Given the description of an element on the screen output the (x, y) to click on. 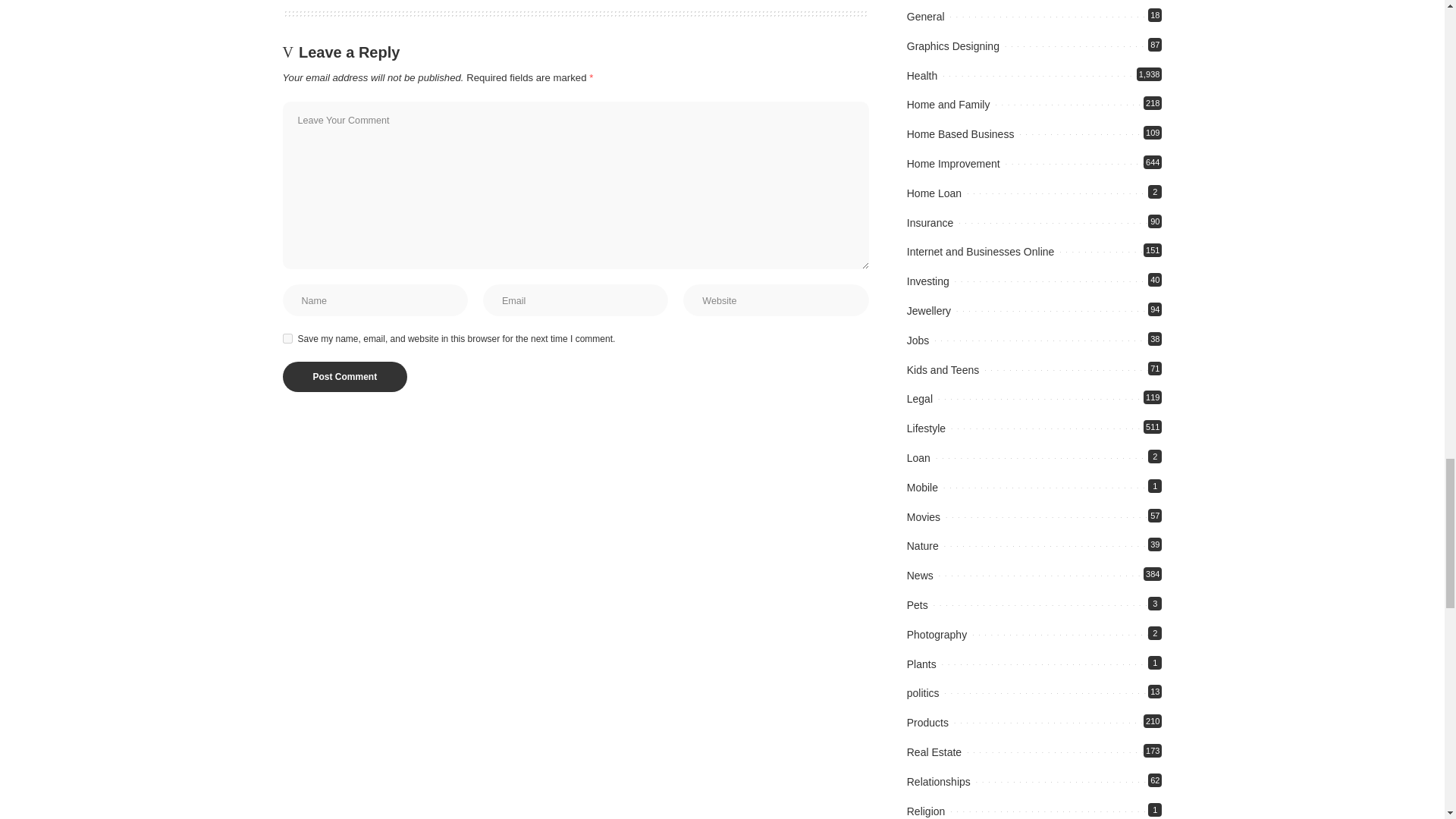
Post Comment (344, 376)
yes (287, 338)
